Given the description of an element on the screen output the (x, y) to click on. 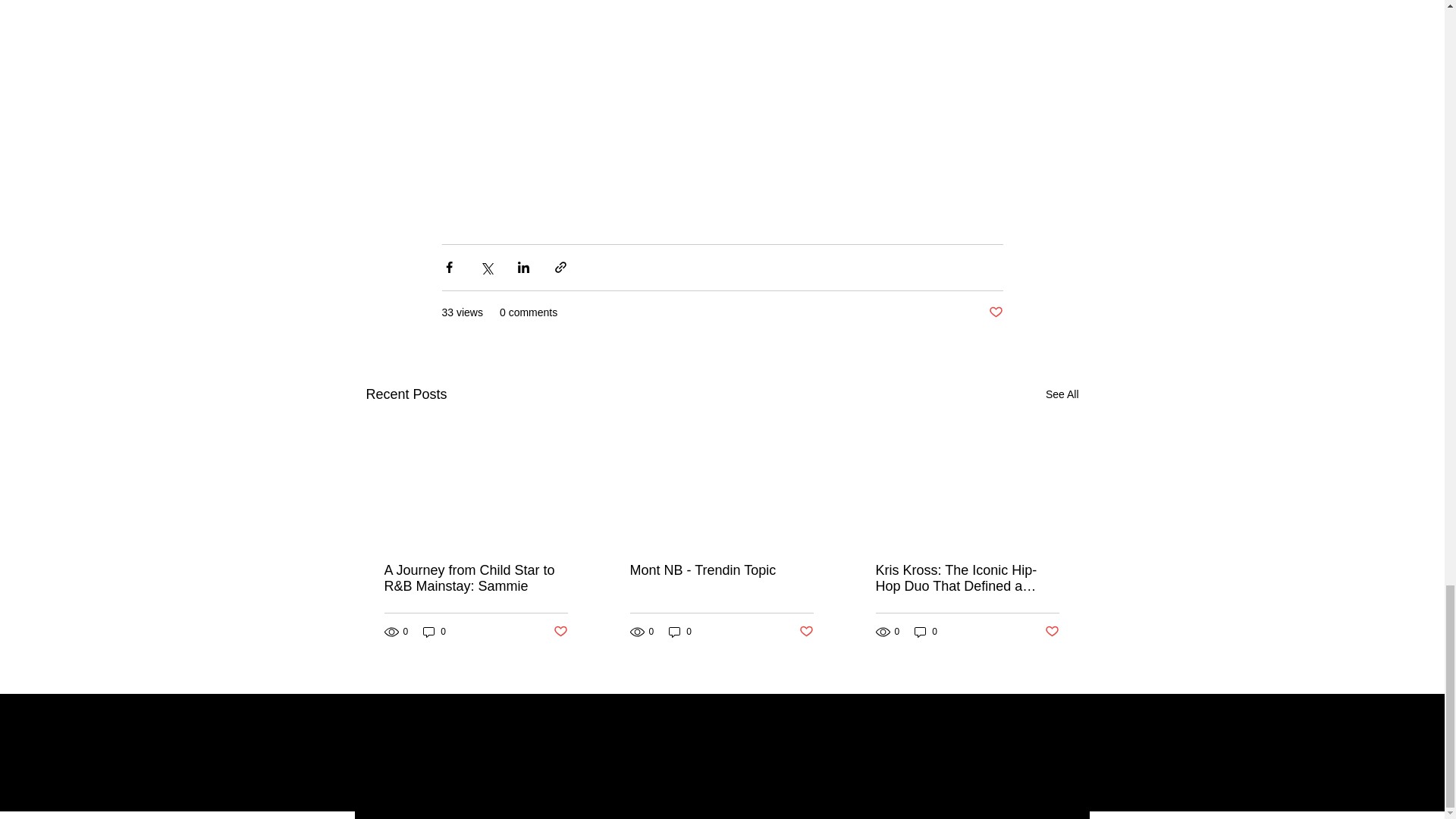
Post not marked as liked (995, 312)
Post not marked as liked (560, 631)
0 (679, 631)
See All (1061, 394)
Post not marked as liked (1052, 631)
Mont NB - Trendin Topic (720, 570)
0 (434, 631)
Kris Kross: The Iconic Hip-Hop Duo That Defined a Generation (966, 578)
0 (925, 631)
Post not marked as liked (806, 631)
